Given the description of an element on the screen output the (x, y) to click on. 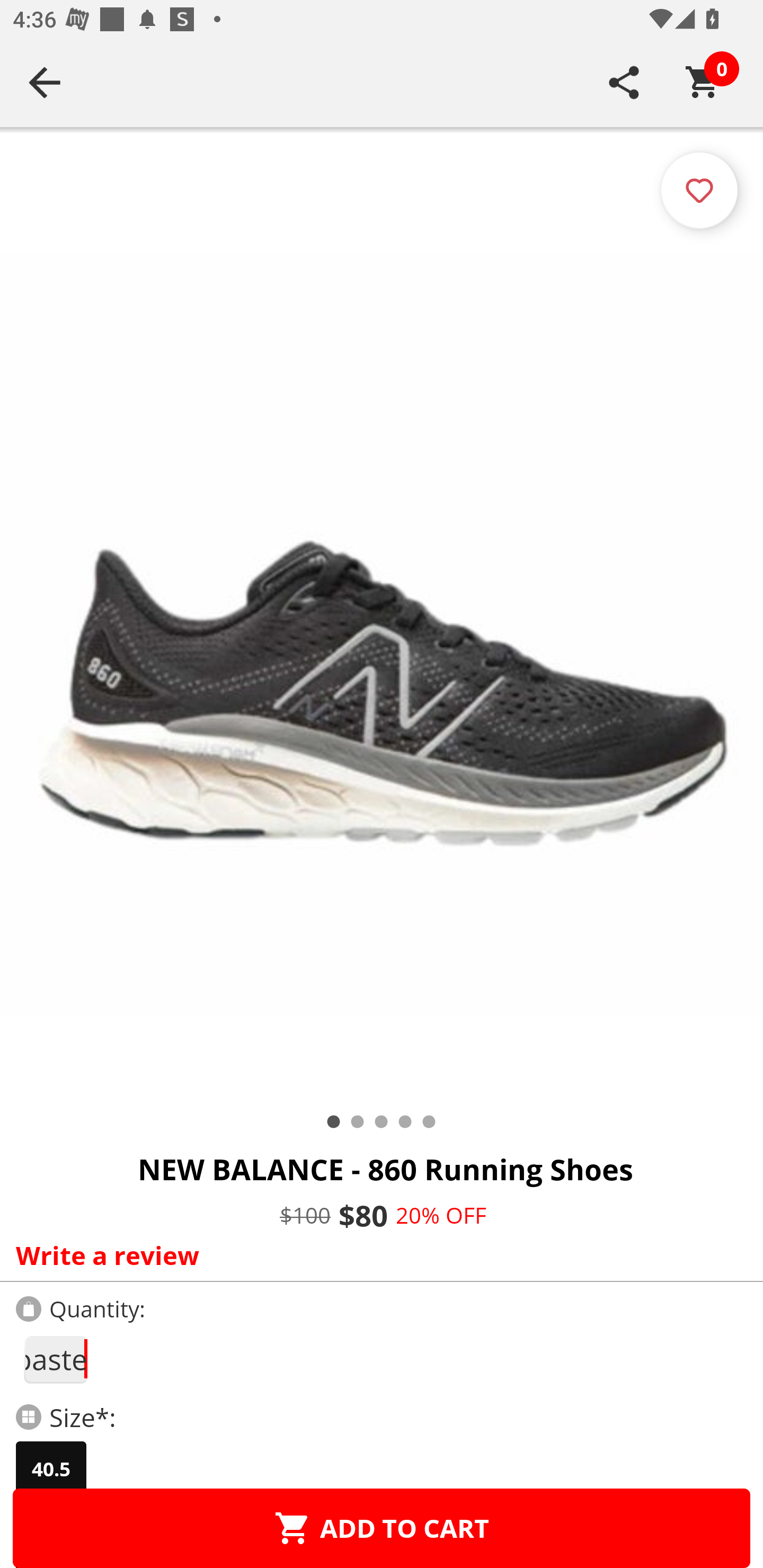
Navigate up (44, 82)
SHARE (623, 82)
Cart (703, 81)
Write a review (377, 1255)
1toothpaste (55, 1358)
40.5 (51, 1468)
ADD TO CART (381, 1528)
